Given the description of an element on the screen output the (x, y) to click on. 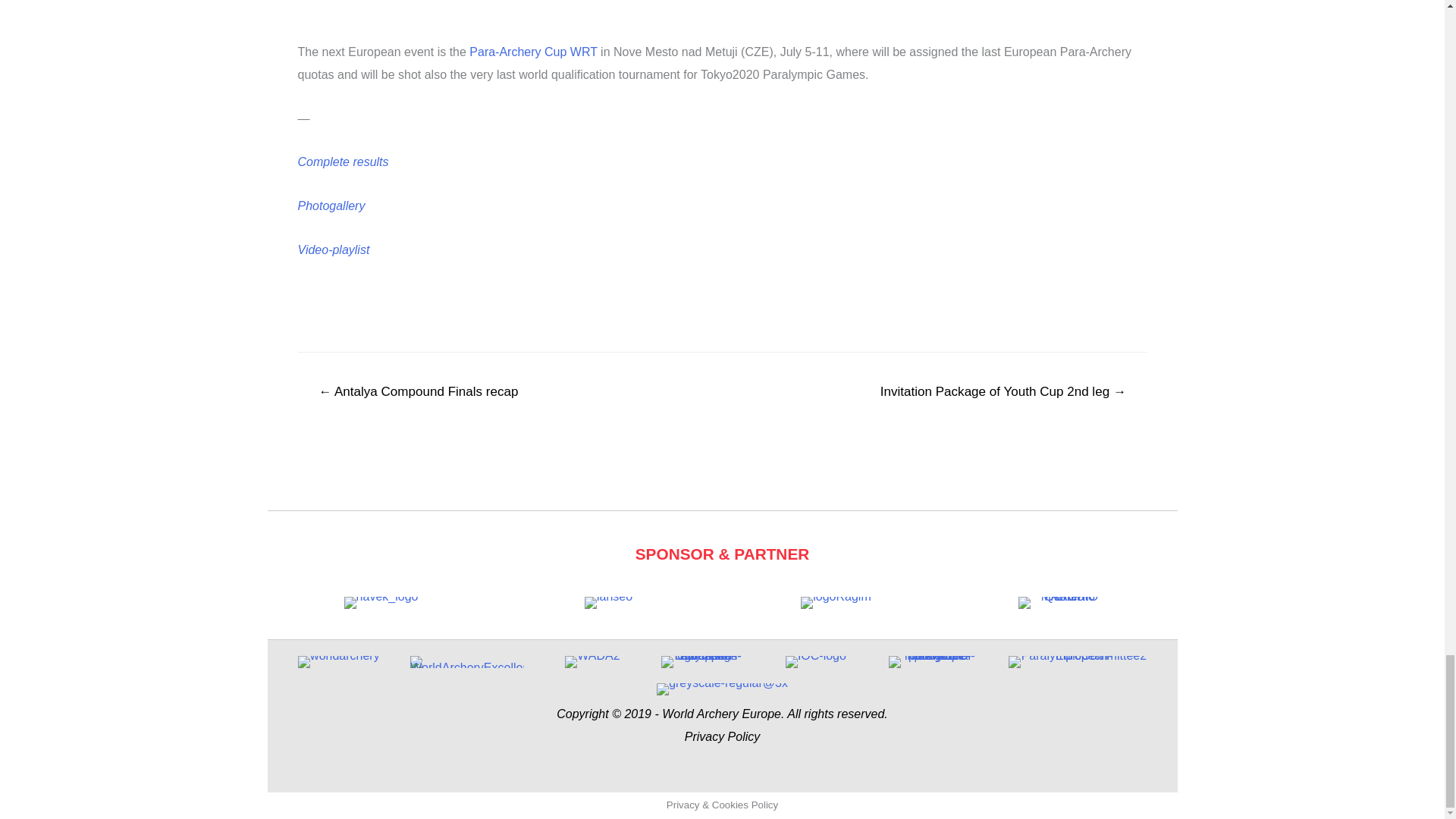
WorldArcheryExcellenceCenter (467, 662)
european-olympic-committees-EOC-new-logo-design-3 (701, 662)
ianseo (608, 603)
WADA2 (592, 662)
IOC-logo (815, 662)
worldarchery (339, 662)
logoRagim (835, 603)
